Given the description of an element on the screen output the (x, y) to click on. 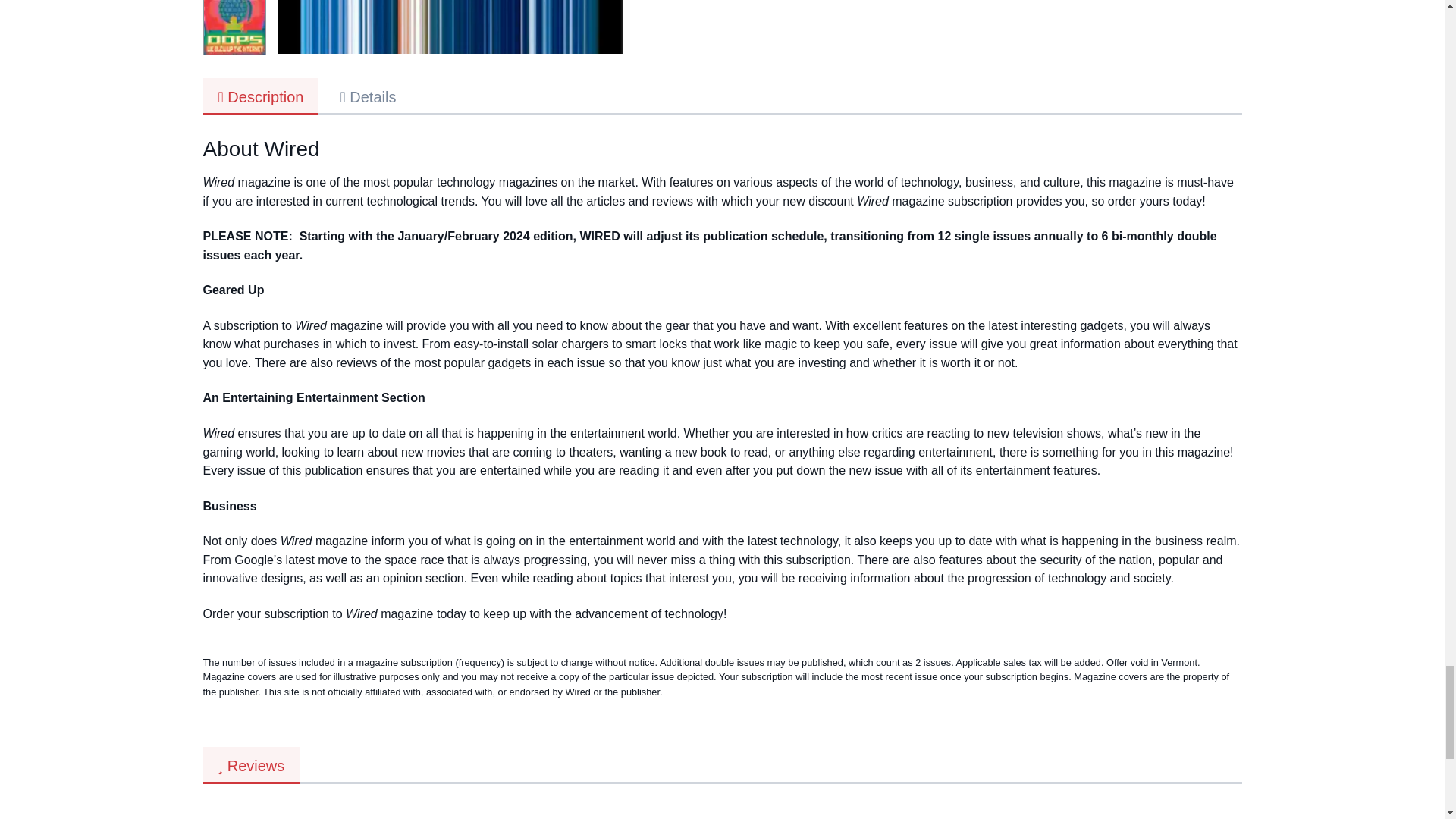
Wired (450, 26)
Details (367, 95)
Wired Discount (233, 27)
Description (260, 96)
Reviews (251, 765)
